Given the description of an element on the screen output the (x, y) to click on. 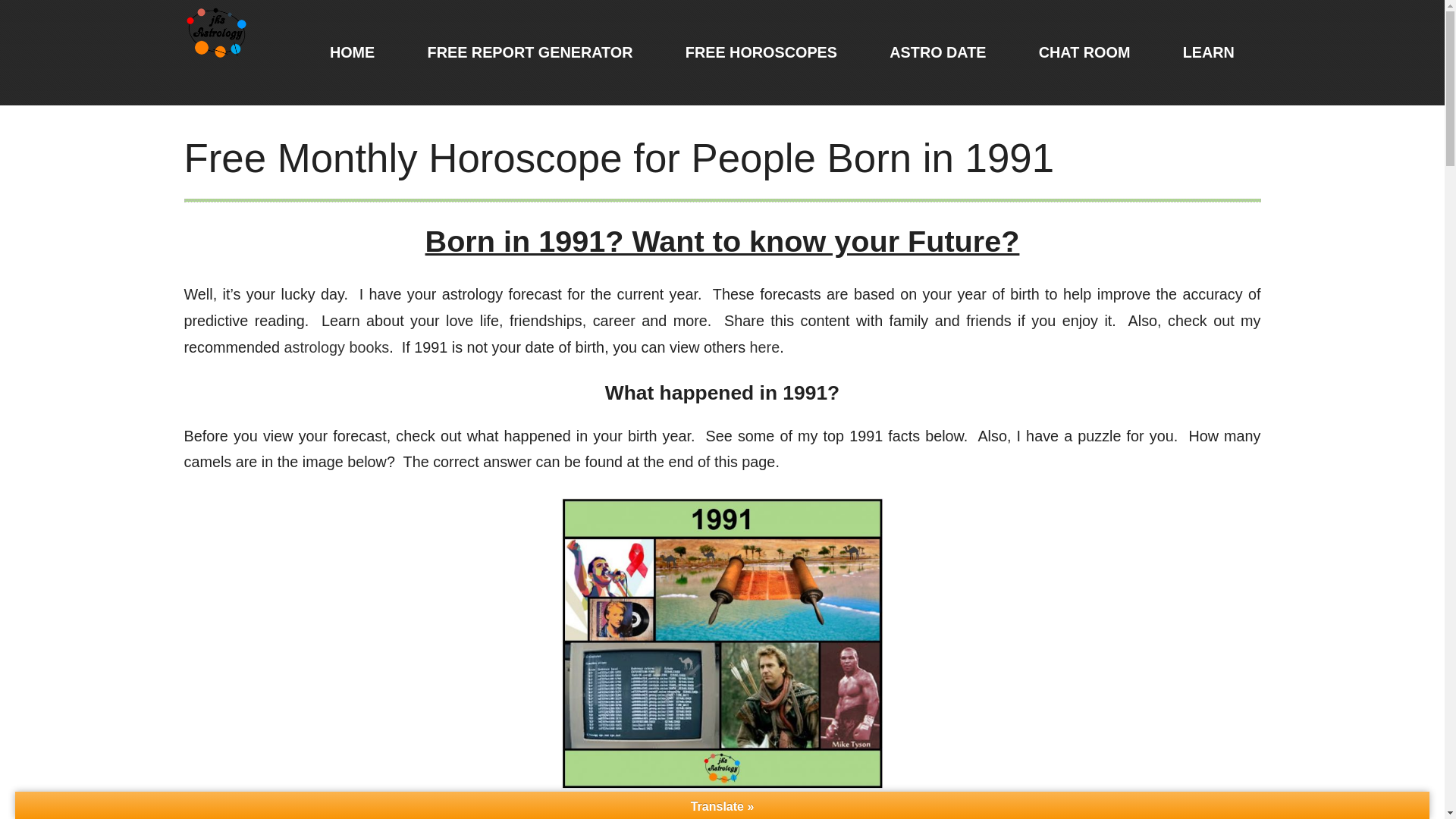
astrology books (336, 347)
FREE HOROSCOPES (761, 52)
CHAT ROOM (1083, 52)
LEARN (1208, 52)
ASTRO DATE (938, 52)
here (764, 347)
FREE REPORT GENERATOR (530, 52)
HOME (351, 52)
